Given the description of an element on the screen output the (x, y) to click on. 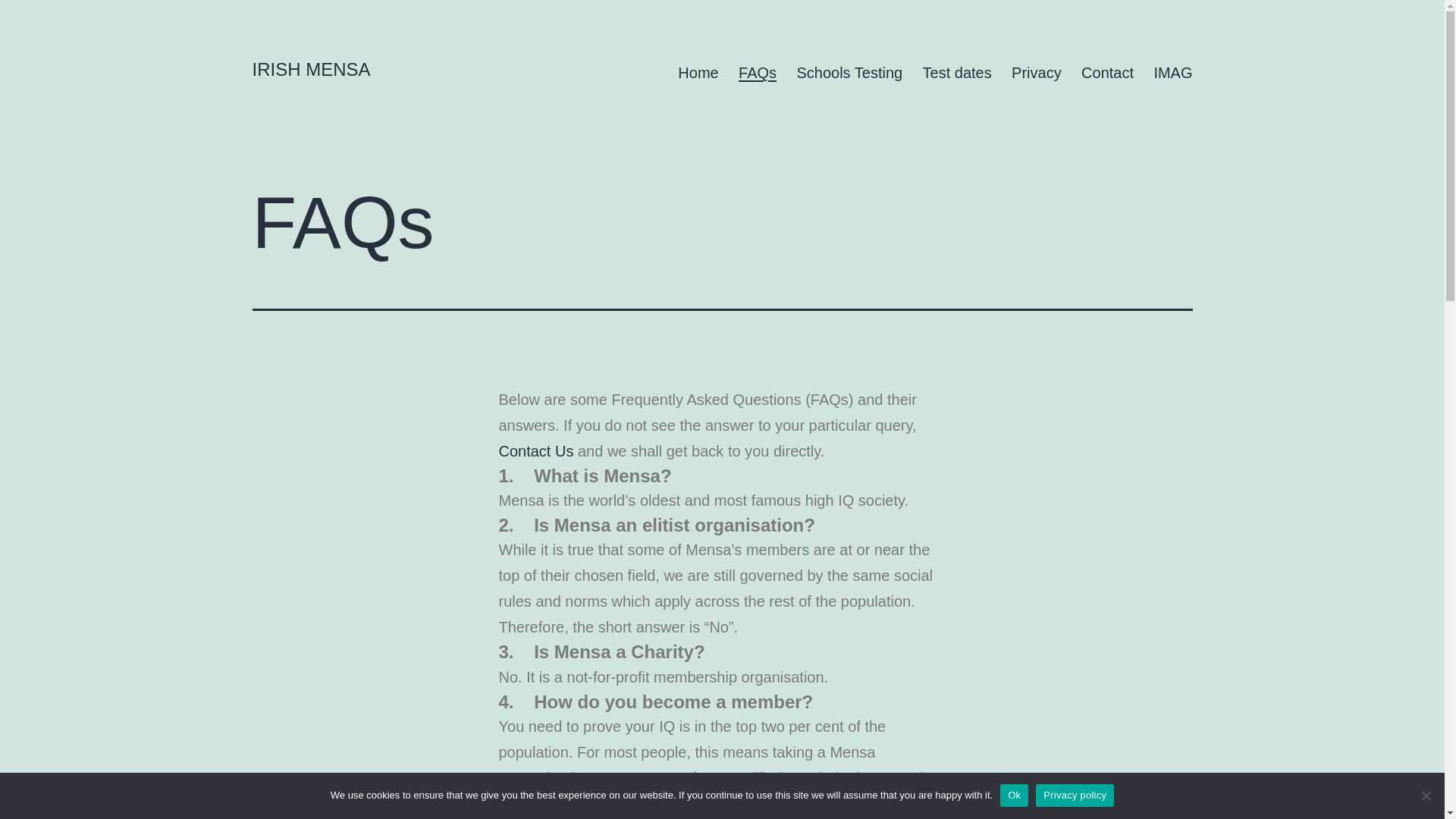
IRISH MENSA (310, 68)
Privacy policy (1074, 794)
Schools Testing (849, 72)
No (1425, 795)
IMAG (1172, 72)
Privacy (1036, 72)
Home (698, 72)
Ok (1013, 794)
Test dates (956, 72)
Contact (536, 451)
FAQs (757, 72)
Contact Us (536, 451)
Contact (1106, 72)
